Given the description of an element on the screen output the (x, y) to click on. 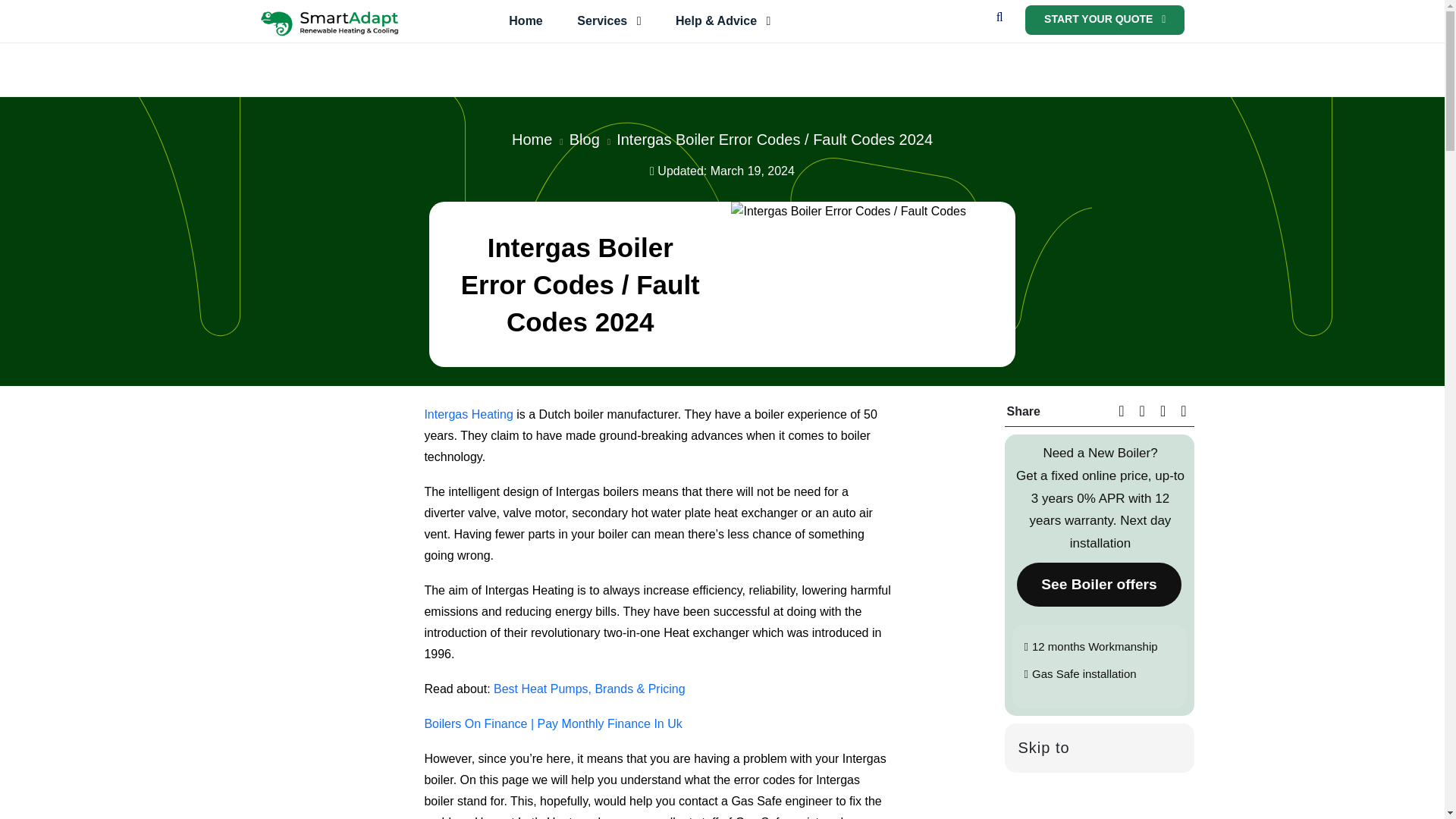
Home (525, 20)
Blog (584, 139)
START YOUR QUOTE (1105, 19)
Home (525, 20)
Home (531, 139)
See Boiler offers (1098, 584)
See Boiler offers (1098, 584)
Services (608, 20)
Intergas Heating (467, 413)
services (608, 20)
